Given the description of an element on the screen output the (x, y) to click on. 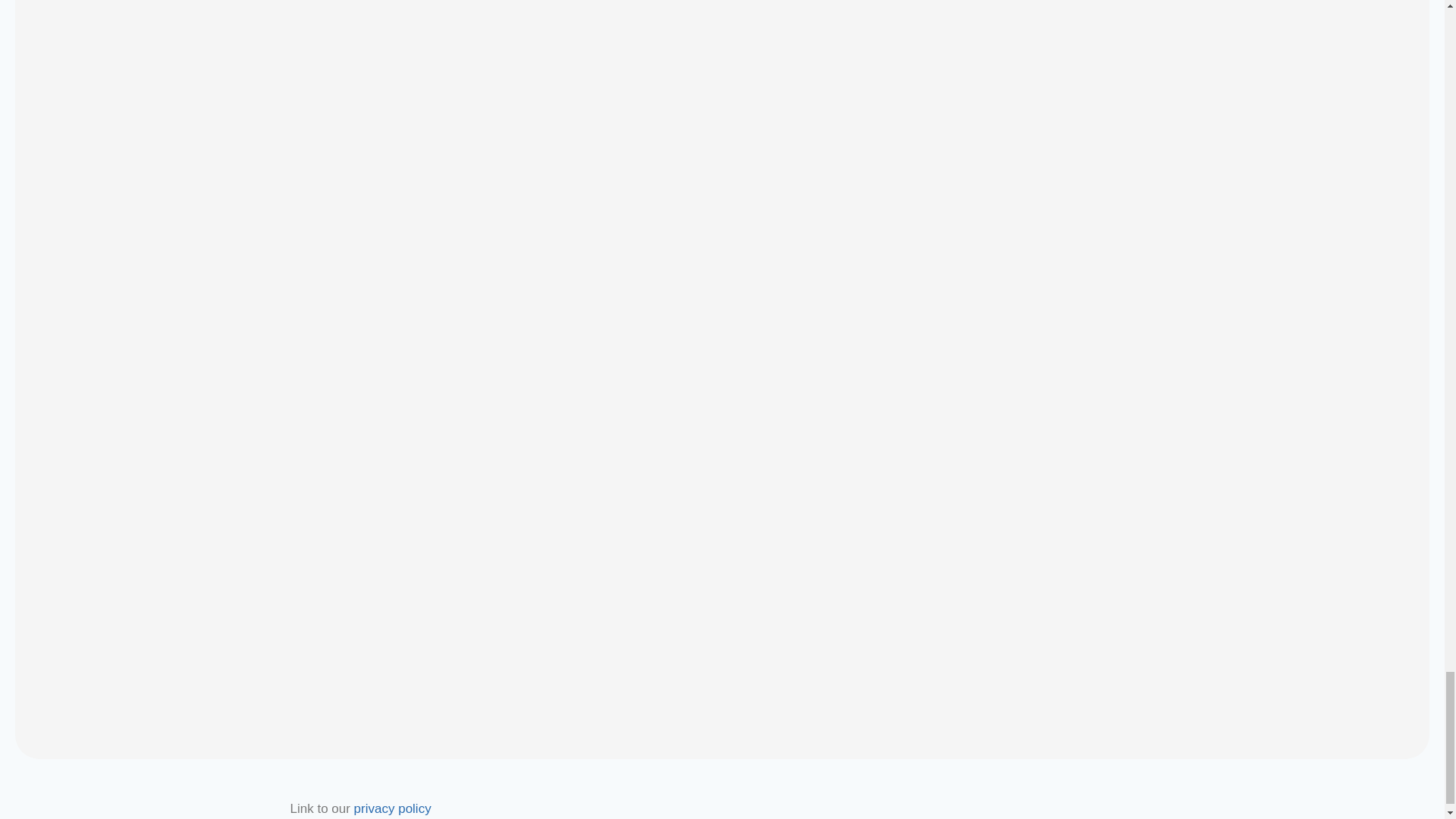
privacy policy (391, 808)
